Given the description of an element on the screen output the (x, y) to click on. 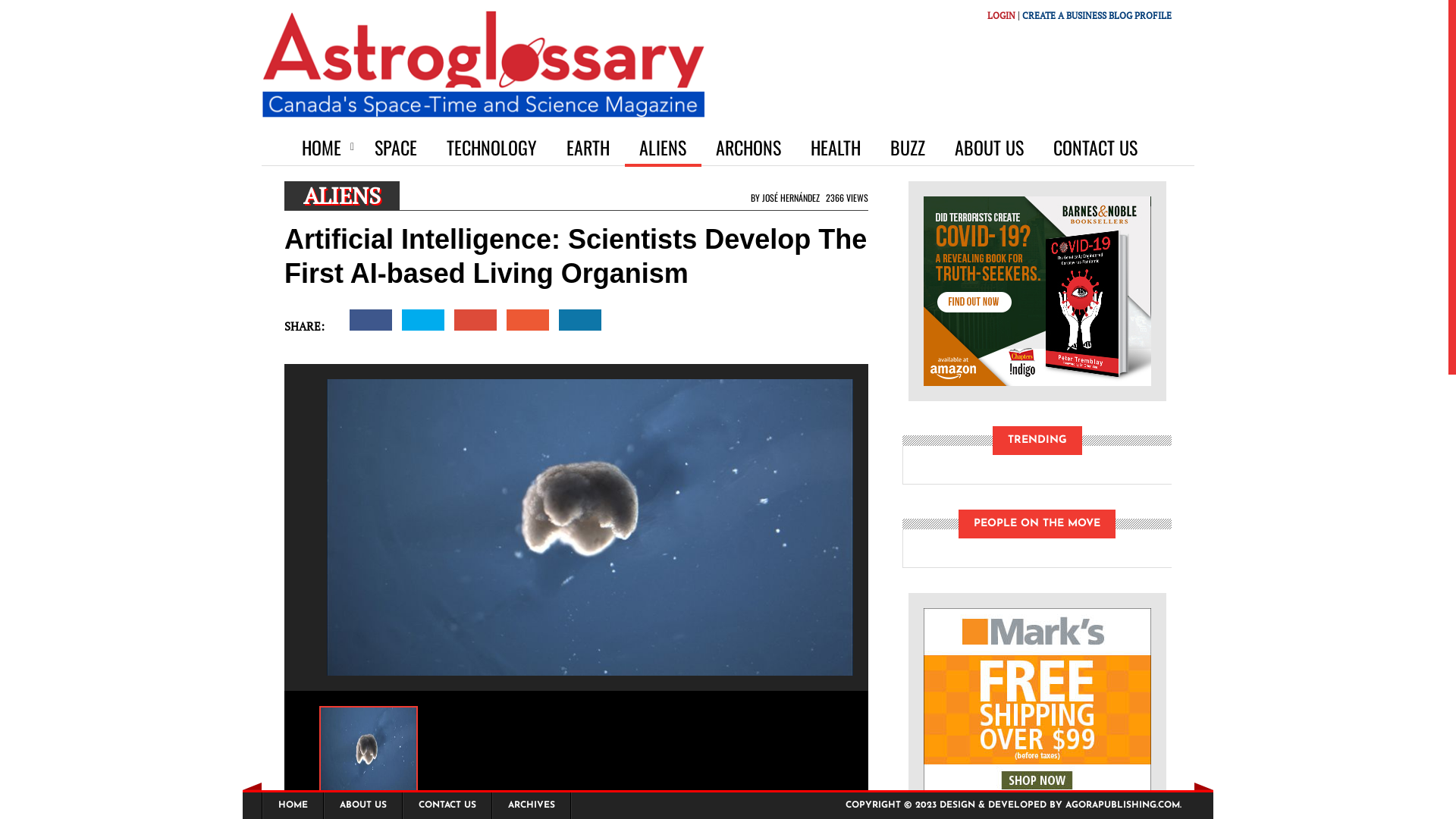
ARCHONS Element type: text (748, 147)
EARTH Element type: text (588, 147)
BUZZ Element type: text (907, 147)
TECHNOLOGY Element type: text (492, 147)
SPACE Element type: text (396, 147)
ABOUT US Element type: text (989, 147)
ALIENS Element type: text (662, 147)
2366 VIEWS Element type: text (845, 197)
LOGIN Element type: text (1001, 15)
CONTACT US Element type: text (1095, 147)
CREATE A BUSINESS BLOG PROFILE Element type: text (1096, 15)
HEALTH Element type: text (835, 147)
HOME Element type: text (323, 147)
